Given the description of an element on the screen output the (x, y) to click on. 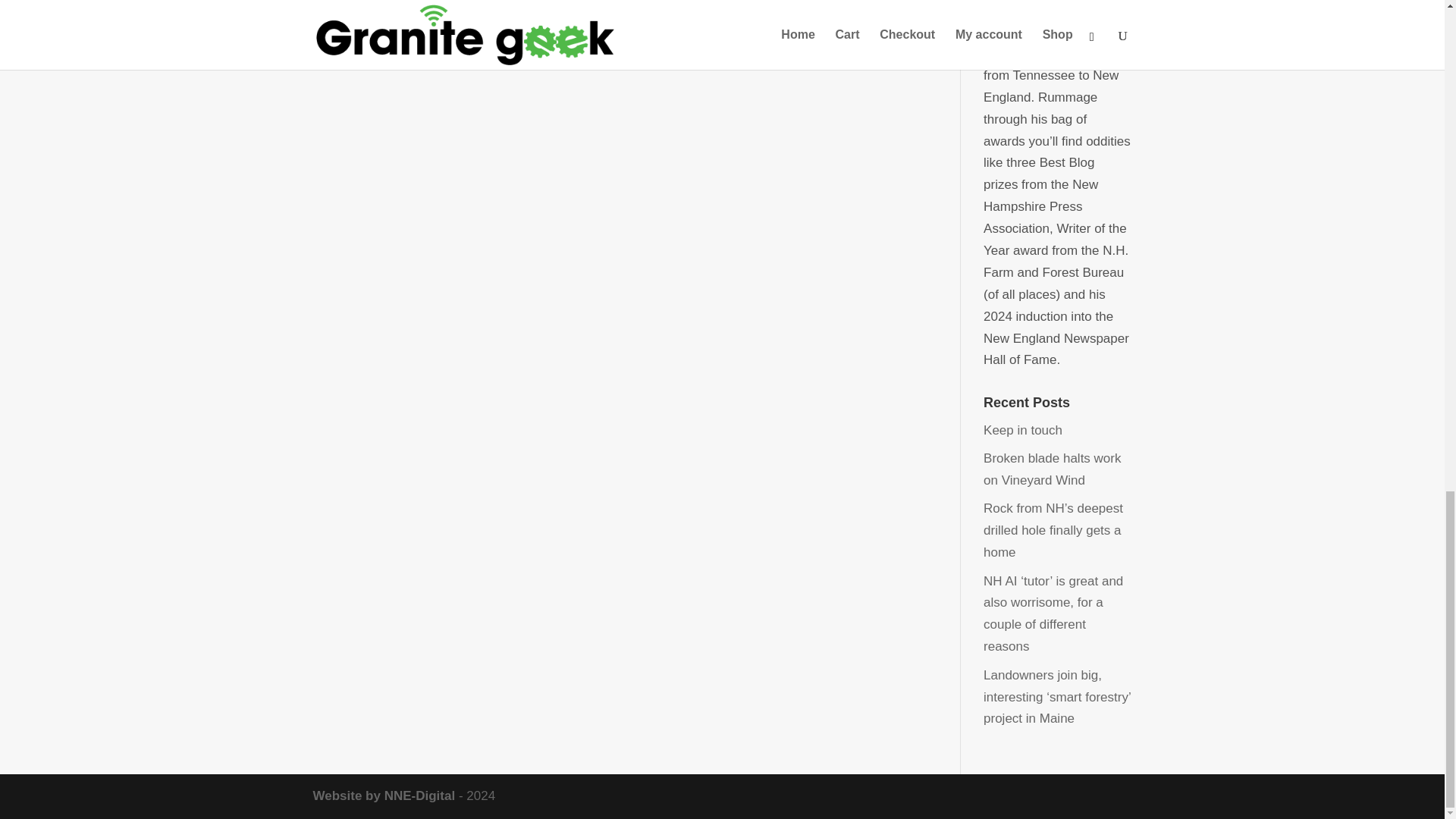
Keep in touch (1023, 430)
Website by NNE-Digital (383, 795)
Broken blade halts work on Vineyard Wind (1052, 469)
